Given the description of an element on the screen output the (x, y) to click on. 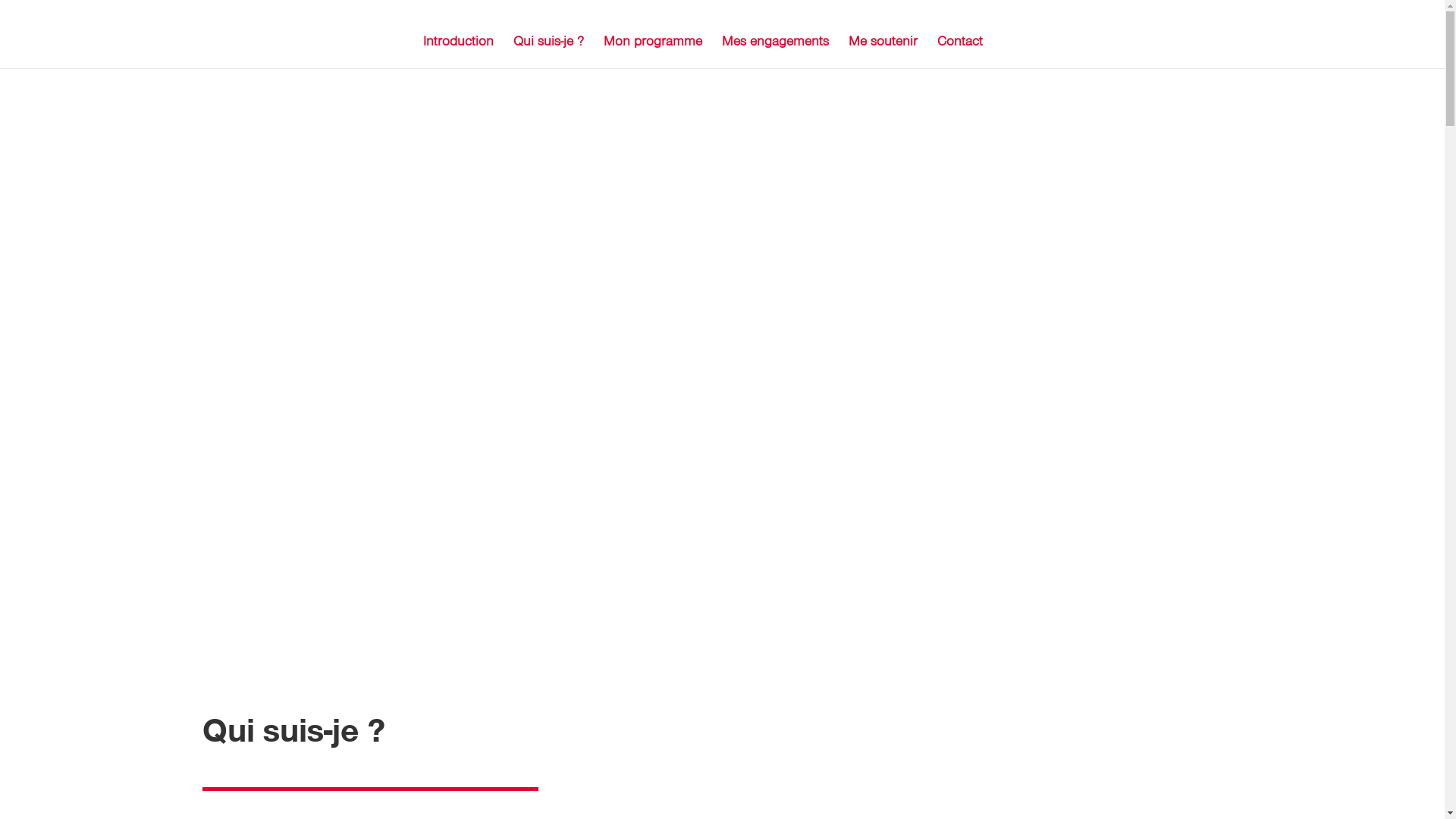
Qui suis-je ? Element type: text (547, 51)
Contact Element type: text (959, 51)
Mon programme Element type: text (652, 51)
Introduction Element type: text (458, 51)
Mes engagements Element type: text (774, 51)
Me soutenir Element type: text (881, 51)
